Given the description of an element on the screen output the (x, y) to click on. 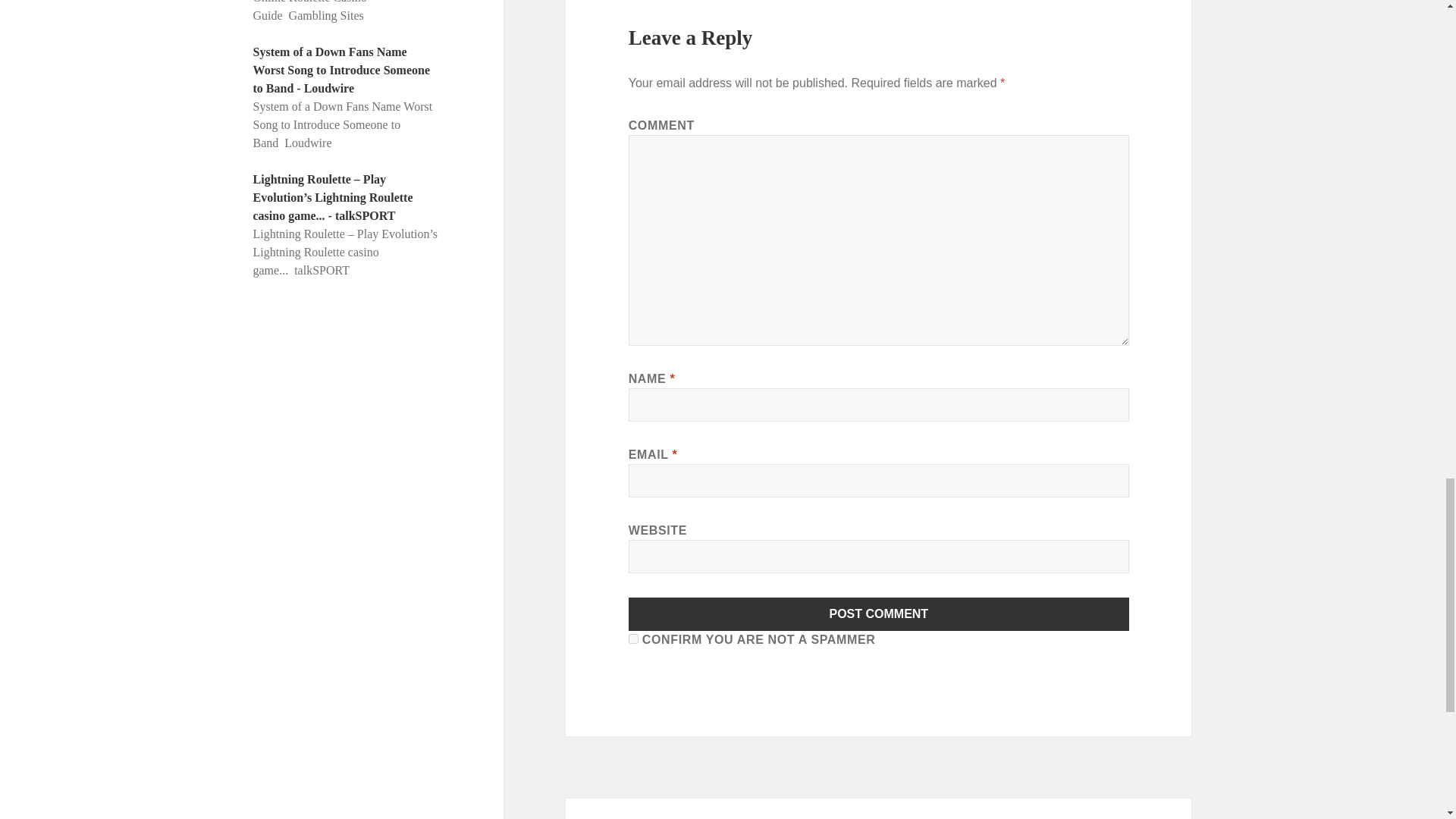
on (633, 638)
Post Comment (878, 613)
Post Comment (878, 613)
